Given the description of an element on the screen output the (x, y) to click on. 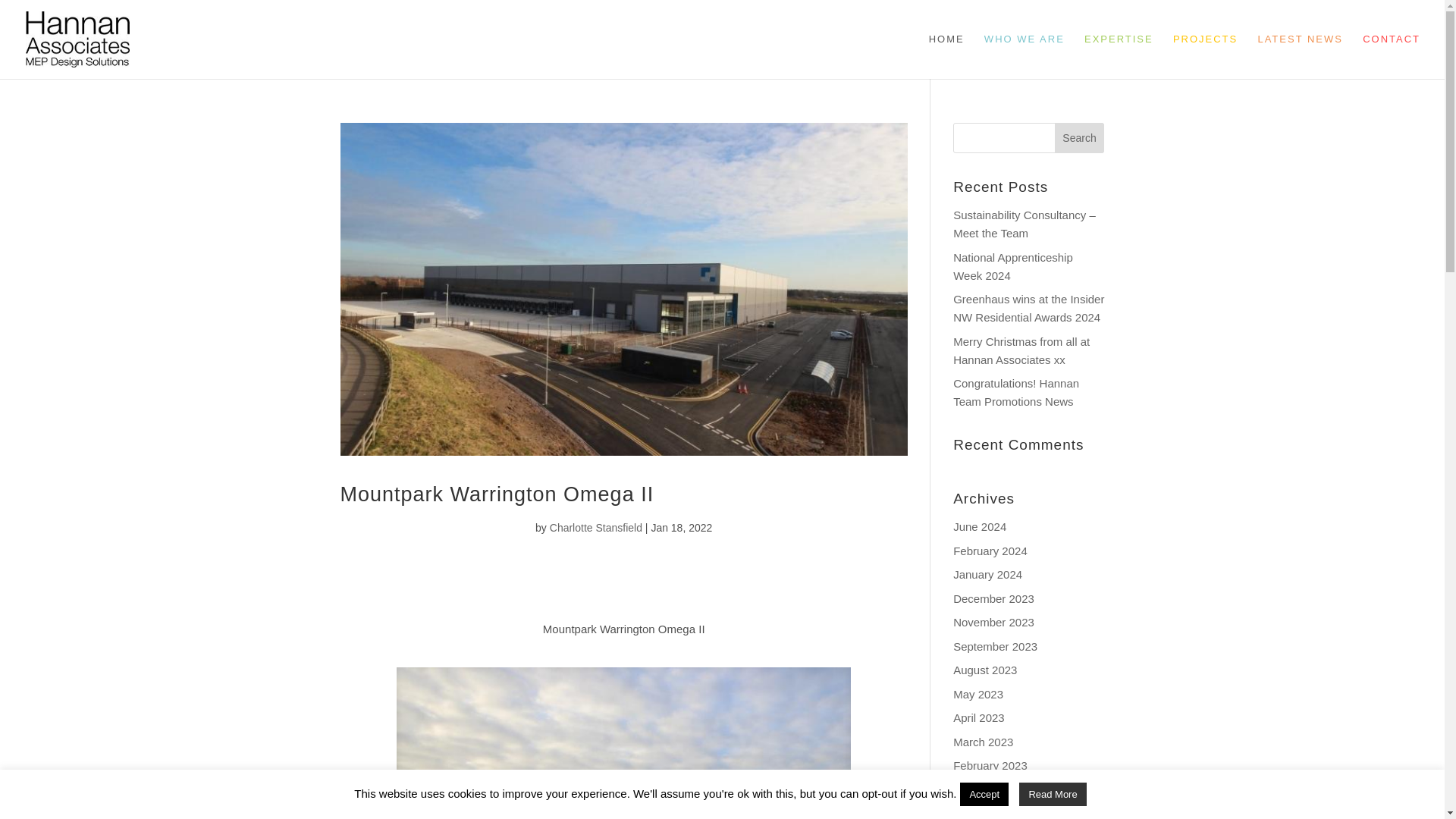
Charlotte Stansfield (596, 527)
January 2024 (987, 574)
WHO WE ARE (1024, 56)
EXPERTISE (1118, 56)
Search (1079, 137)
Posts by Charlotte Stansfield (596, 527)
February 2024 (990, 550)
August 2022 (984, 812)
Merry Christmas from all at Hannan Associates xx  (1021, 350)
December 2022 (993, 789)
National Apprenticeship Week 2024 (1013, 265)
May 2023 (978, 694)
LATEST NEWS (1299, 56)
Congratulations! Hannan Team Promotions News (1015, 391)
Search (1079, 137)
